Given the description of an element on the screen output the (x, y) to click on. 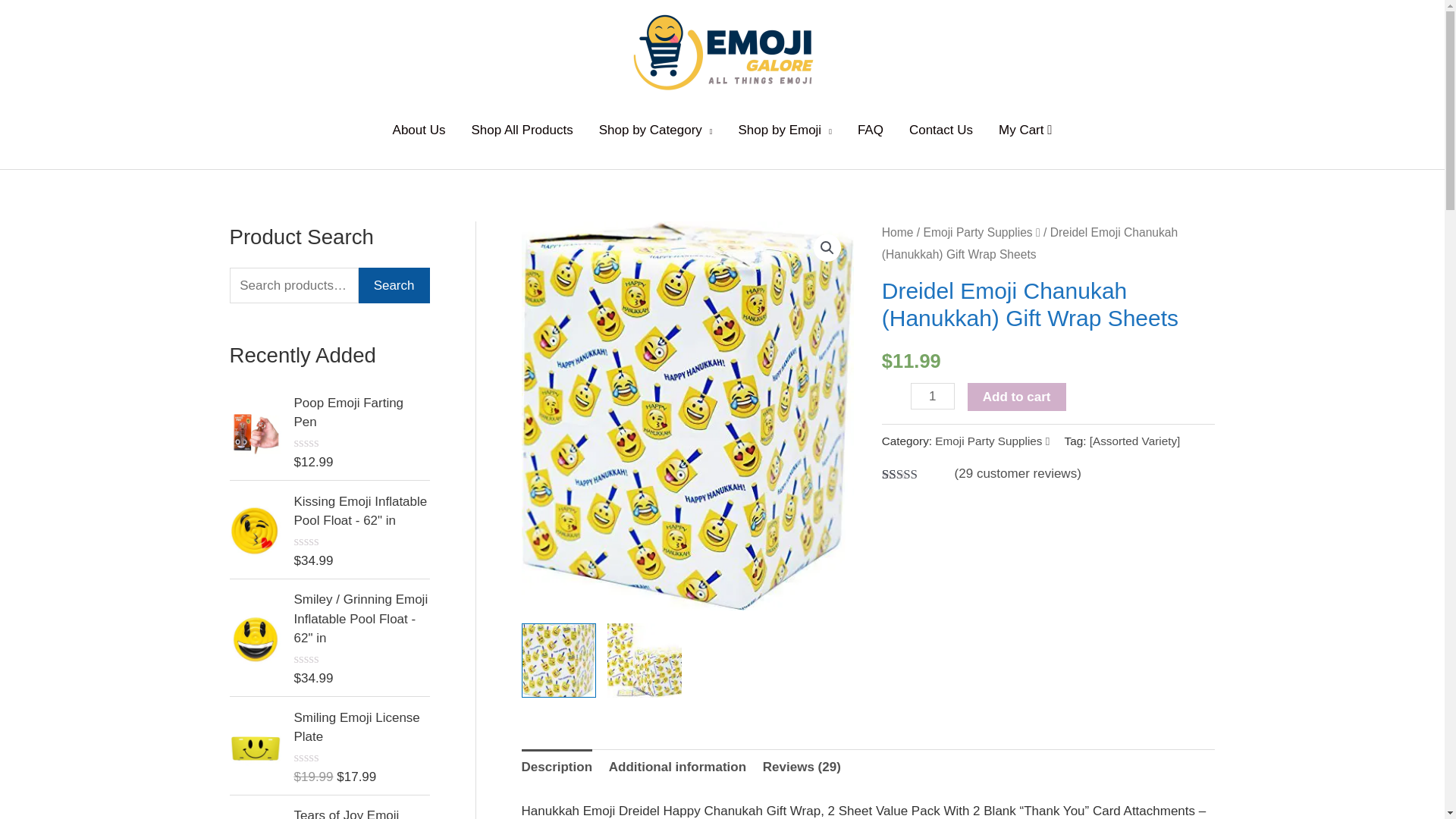
Emoji Dreidel Gift Wrap Sheets (687, 415)
Shop by Category (655, 130)
Shop All Products (521, 130)
1 (933, 396)
About Us (419, 130)
Shop by Emoji (784, 130)
